Given the description of an element on the screen output the (x, y) to click on. 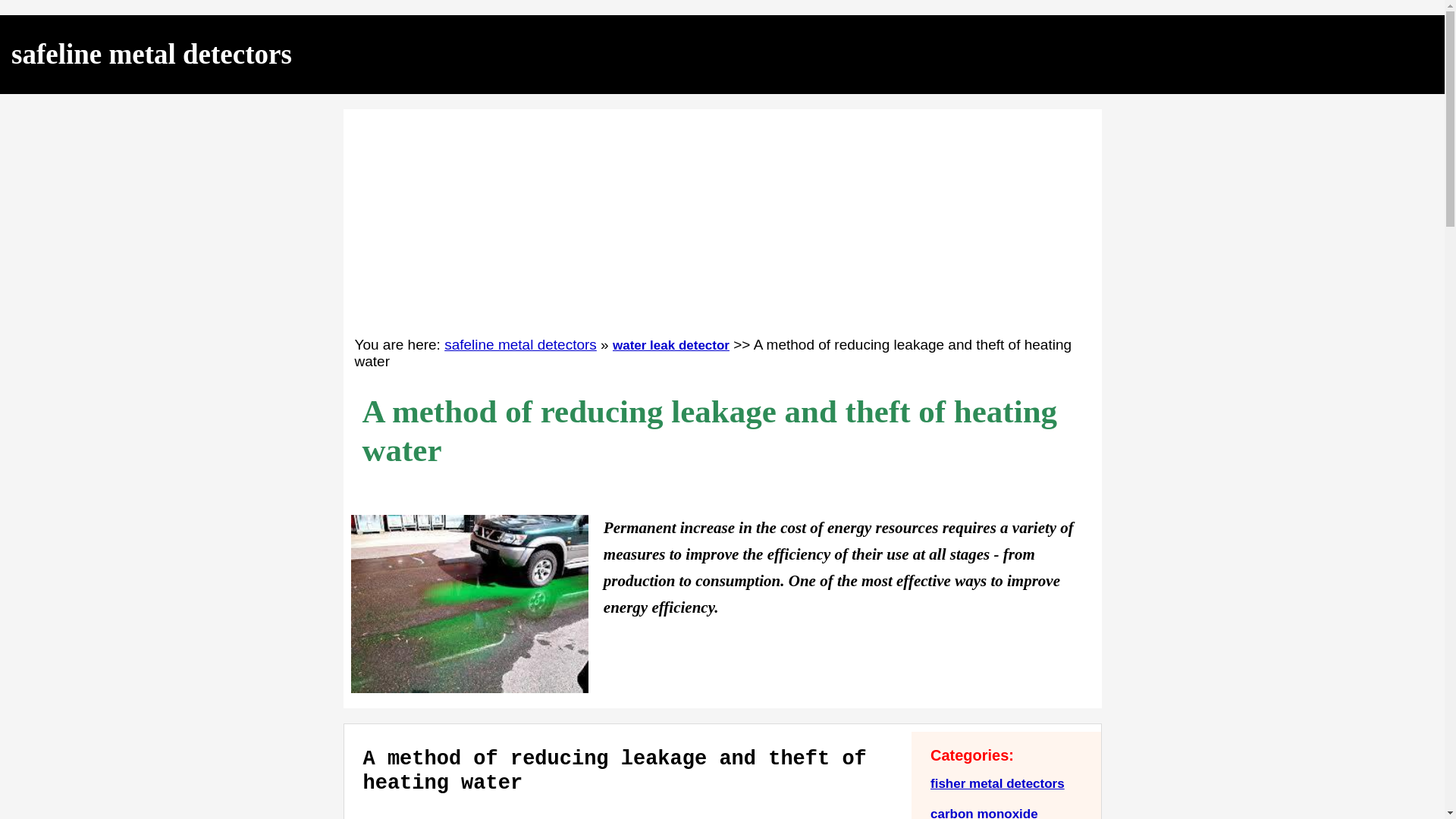
safeline metal detectors (520, 344)
safeline metal detectors (520, 344)
water leak detector (670, 345)
carbon monoxide detectors (984, 812)
Advertisement (627, 814)
carbon monoxide detectors (984, 812)
fisher metal detectors (997, 783)
A method of reducing leakage and theft of heating water (469, 603)
safeline metal detectors (151, 53)
fisher metal detectors (997, 783)
safeline metal detectors (151, 53)
water leak detector (670, 345)
